Given the description of an element on the screen output the (x, y) to click on. 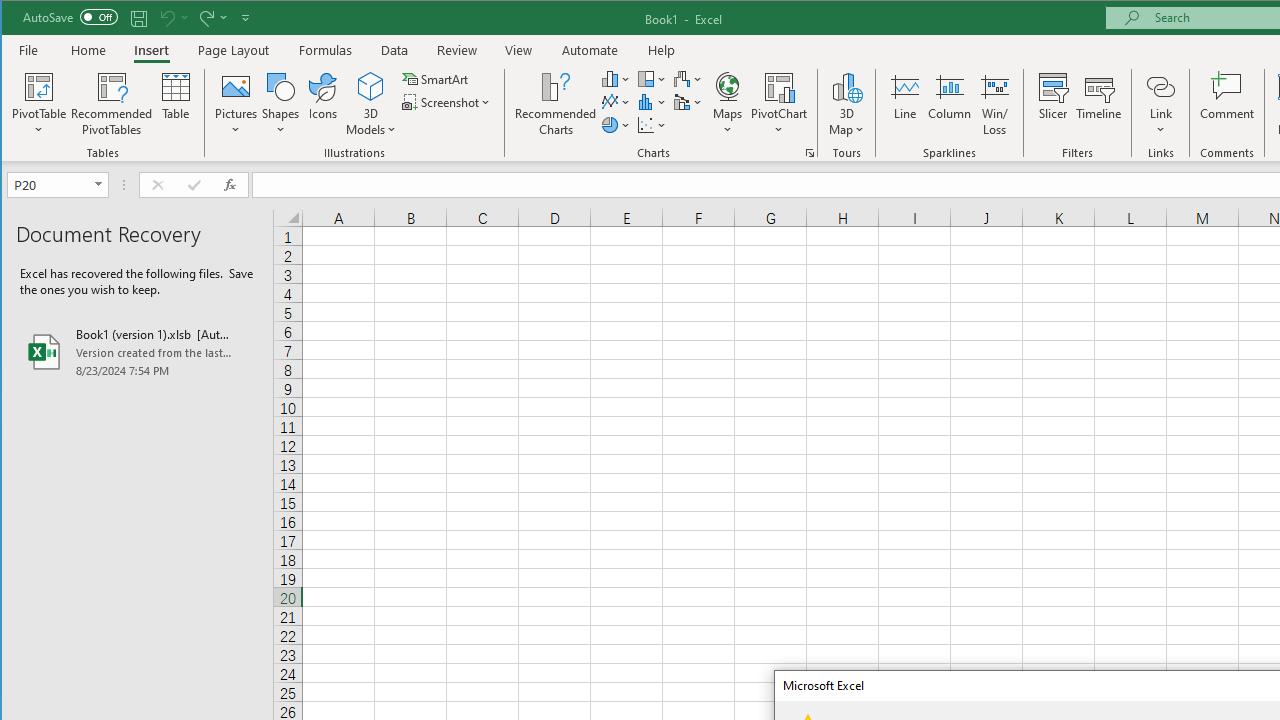
Insert Pie or Doughnut Chart (616, 124)
Insert (151, 50)
Slicer... (1052, 104)
View (518, 50)
Comment (1227, 104)
Line (904, 104)
Help (661, 50)
3D Map (846, 86)
Icons (323, 104)
Win/Loss (995, 104)
3D Models (371, 86)
PivotTable (39, 86)
Insert Line or Area Chart (616, 101)
Book1 (version 1).xlsb  [AutoRecovered] (137, 352)
